Given the description of an element on the screen output the (x, y) to click on. 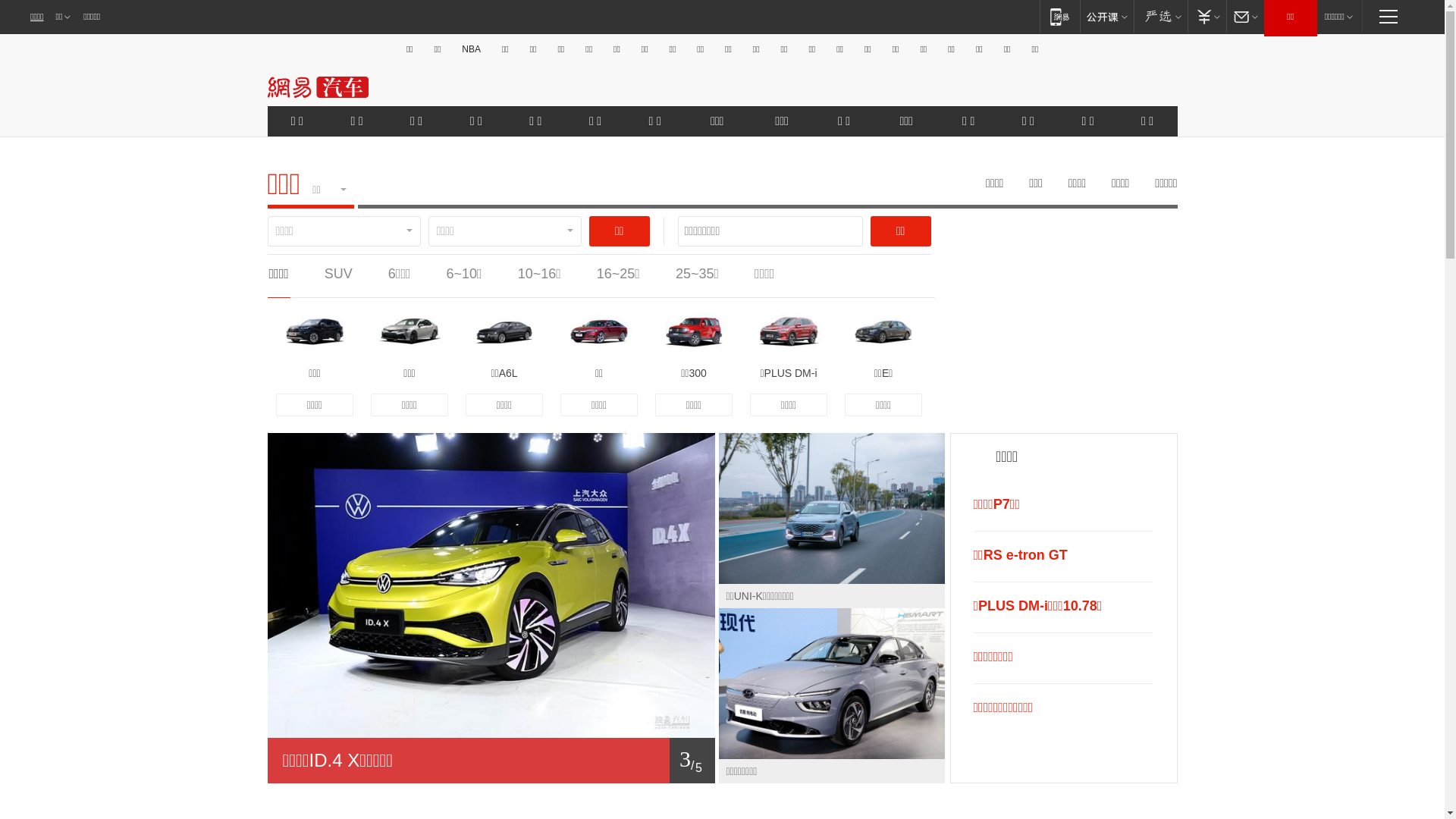
NBA Element type: text (471, 48)
1/ 5 Element type: text (490, 760)
SUV Element type: text (338, 273)
